Given the description of an element on the screen output the (x, y) to click on. 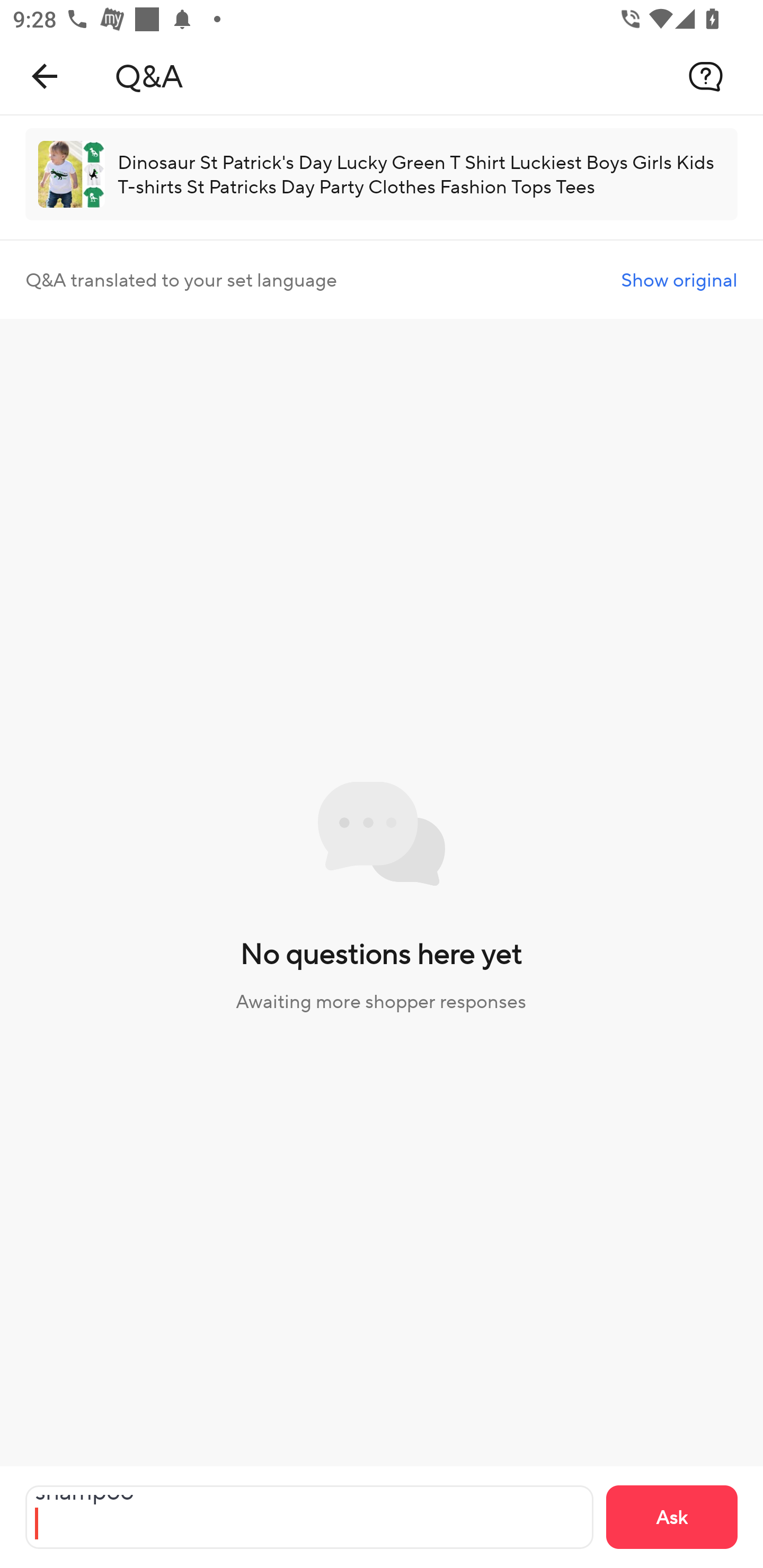
Navigate up (44, 75)
Show original (679, 279)
shampoo
 (309, 1516)
Ask (671, 1516)
